Given the description of an element on the screen output the (x, y) to click on. 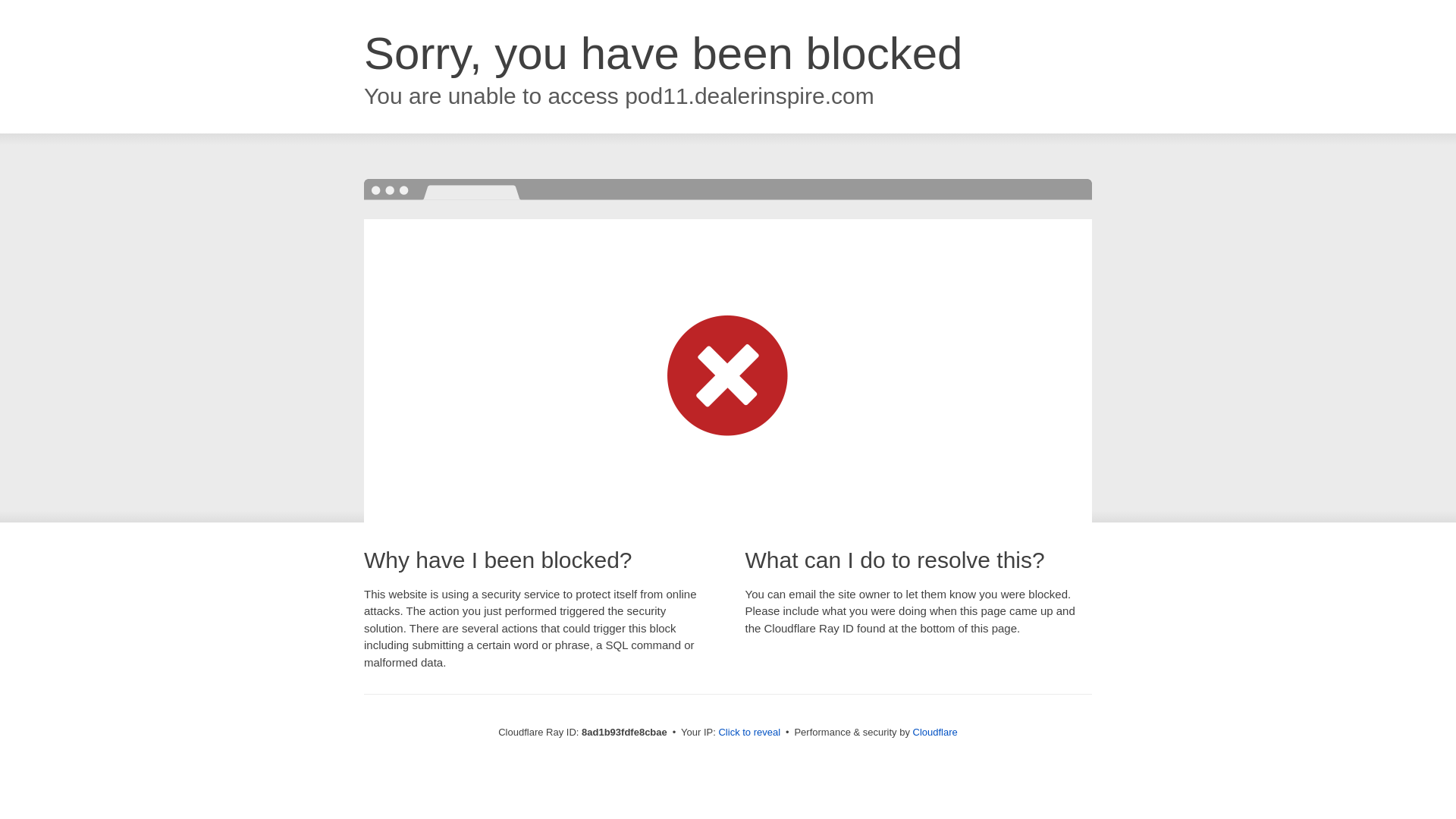
Click to reveal (748, 732)
Cloudflare (935, 731)
